Given the description of an element on the screen output the (x, y) to click on. 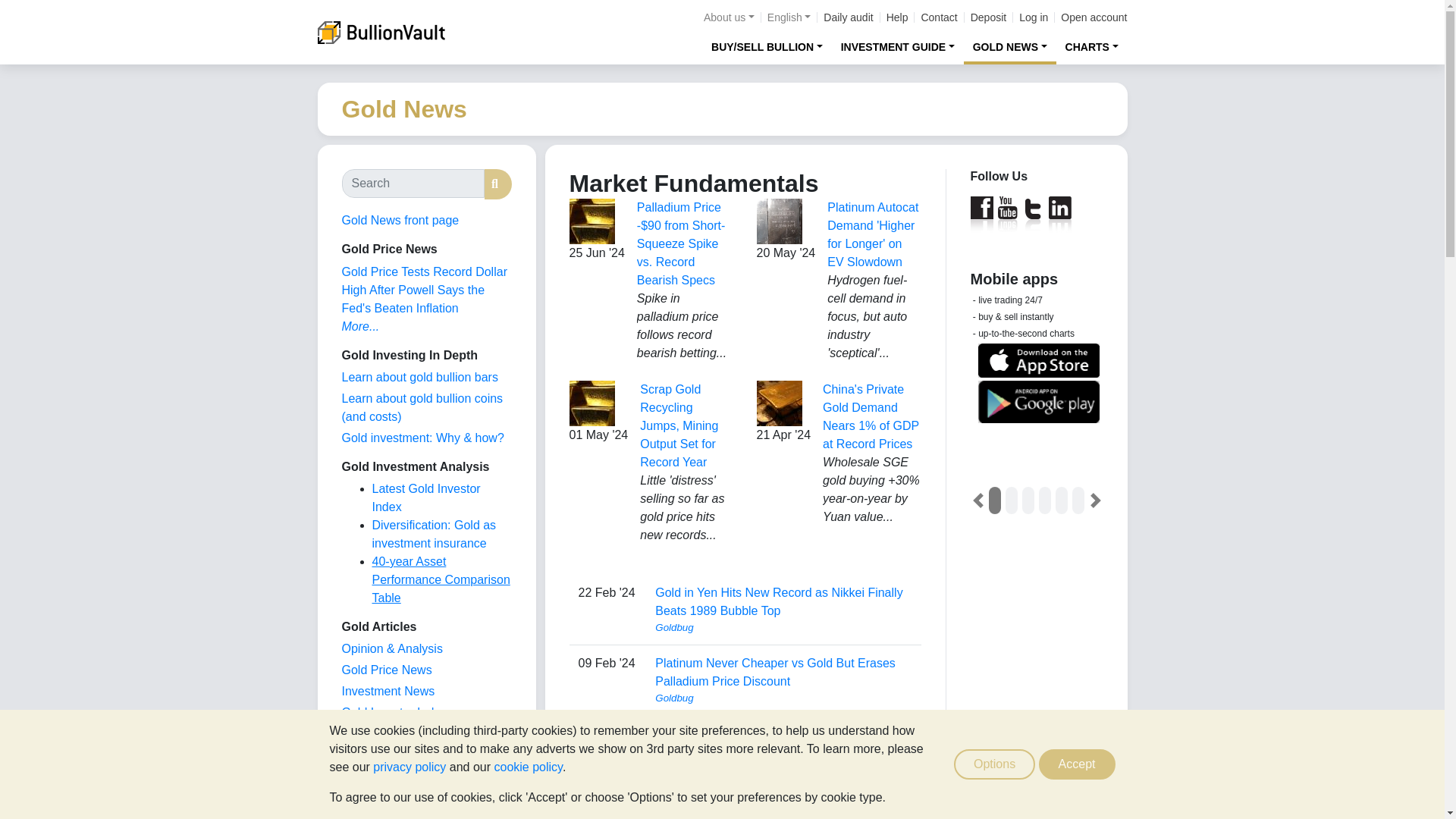
cookie policy (528, 766)
Gold in History (380, 775)
Gold Infographics (387, 733)
Gold Investor Index (393, 712)
Log in (1033, 17)
Accept (1077, 764)
About us (728, 17)
privacy policy (408, 766)
Help (897, 17)
English (788, 17)
Enter the terms you wish to search for. (411, 183)
Market Fundamentals (399, 754)
Daily audit (848, 17)
View user profile. (783, 698)
Deposit (988, 17)
